Given the description of an element on the screen output the (x, y) to click on. 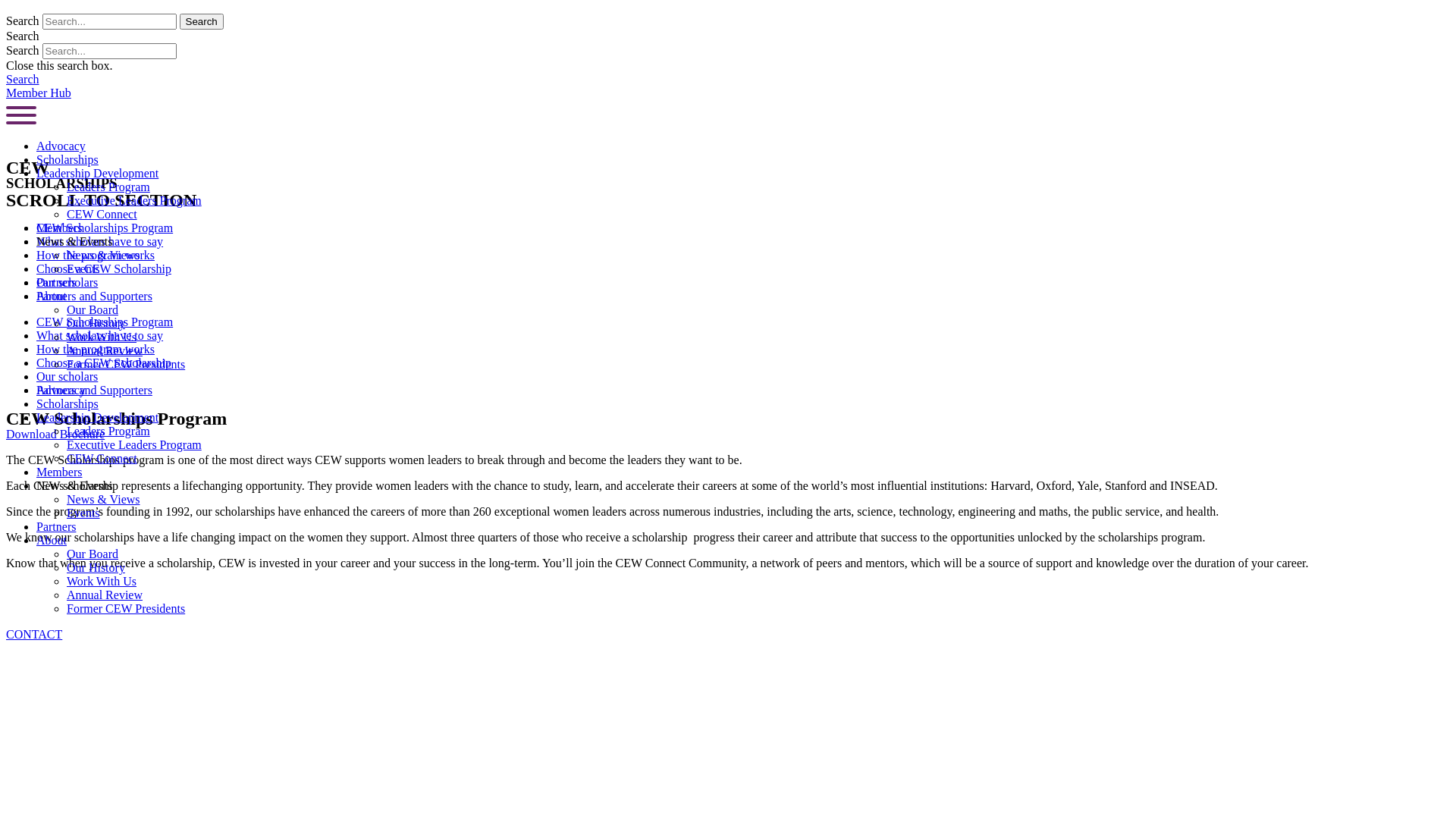
CONTACT Element type: text (34, 633)
CEW Connect Element type: text (101, 457)
Former CEW Presidents Element type: text (125, 363)
Partners Element type: text (55, 282)
How the program works Element type: text (95, 254)
Skip to content Element type: text (42, 12)
Executive Leaders Program Element type: text (133, 444)
Annual Review Element type: text (104, 350)
News & Views Element type: text (103, 498)
Partners Element type: text (55, 526)
Work With Us Element type: text (101, 580)
Scholarships Element type: text (67, 159)
How the program works Element type: text (95, 348)
About Element type: text (51, 295)
Leaders Program Element type: text (108, 186)
What scholars have to say Element type: text (99, 241)
Our History Element type: text (95, 322)
News & Views Element type: text (103, 254)
Members Element type: text (58, 227)
Search Element type: text (201, 21)
Our Board Element type: text (92, 309)
Choose a CEW Scholarship Element type: text (103, 268)
CEW Connect Element type: text (101, 213)
Leaders Program Element type: text (108, 430)
Events Element type: text (83, 512)
Members Element type: text (58, 471)
Choose a CEW Scholarship Element type: text (103, 362)
Advocacy Element type: text (60, 145)
CEW Scholarships Program Element type: text (104, 321)
Our History Element type: text (95, 567)
Leadership Development Element type: text (97, 172)
Member Hub Element type: text (38, 92)
News & Events Element type: text (74, 241)
Former CEW Presidents Element type: text (125, 608)
Our scholars Element type: text (66, 376)
Scholarships Element type: text (67, 403)
Search Element type: text (22, 78)
Events Element type: text (83, 268)
Partners and Supporters Element type: text (94, 295)
Download Brochure Element type: text (55, 433)
Our scholars Element type: text (66, 282)
What scholars have to say Element type: text (99, 335)
Our Board Element type: text (92, 553)
Advocacy Element type: text (60, 389)
About Element type: text (51, 539)
Annual Review Element type: text (104, 594)
CEW Scholarships Program Element type: text (104, 227)
Work With Us Element type: text (101, 336)
Partners and Supporters Element type: text (94, 389)
Executive Leaders Program Element type: text (133, 200)
Leadership Development Element type: text (97, 417)
News & Events Element type: text (74, 485)
